Given the description of an element on the screen output the (x, y) to click on. 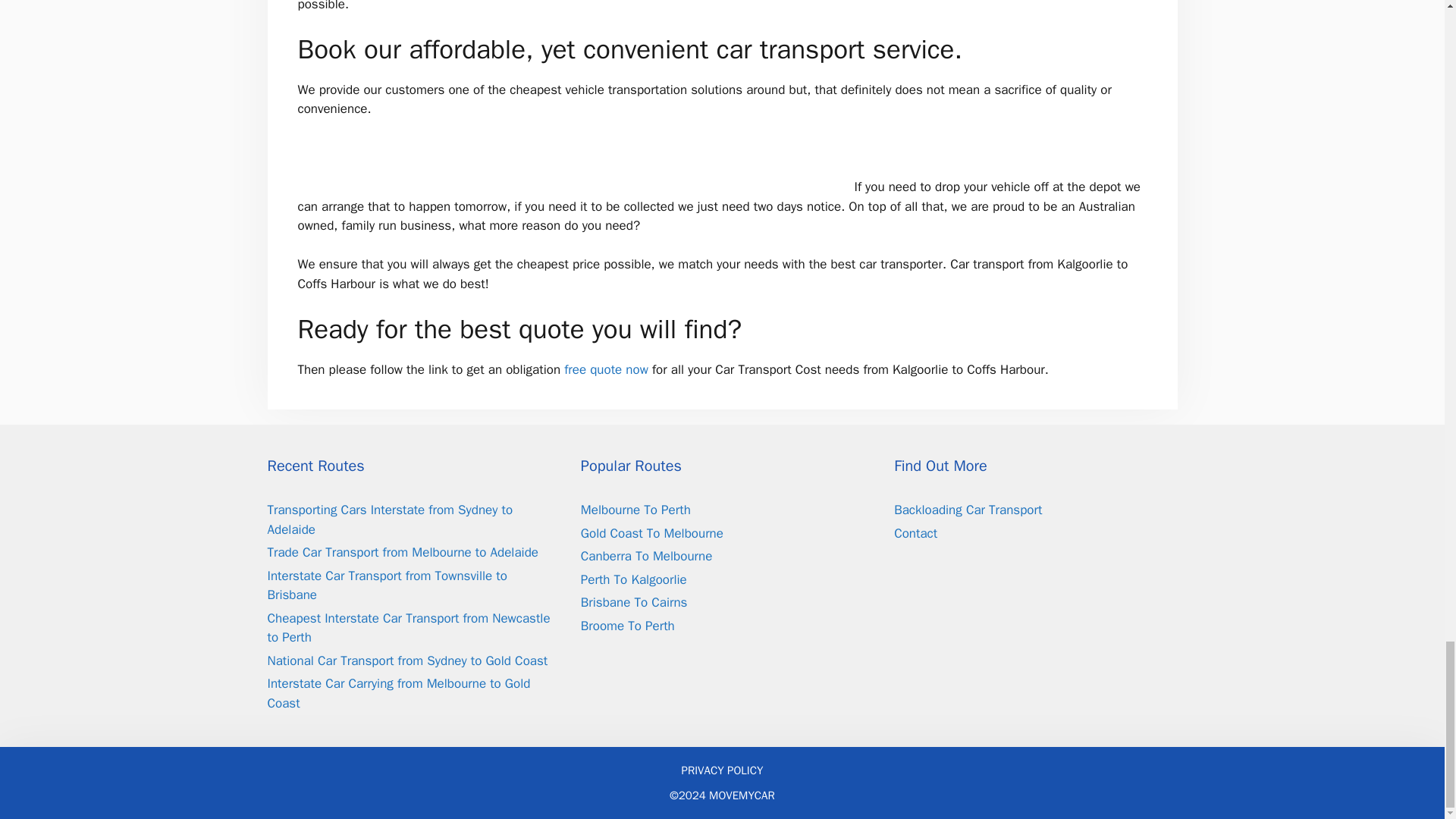
Canberra To Melbourne (645, 555)
Gold Coast To Melbourne (651, 533)
Cheapest Interstate Car Transport from Newcastle to Perth (408, 628)
Brisbane To Cairns (633, 602)
Broome To Perth (627, 625)
Interstate Car Transport from Townsville to Brisbane (386, 585)
Trade Car Transport from Melbourne to Adelaide (401, 552)
PRIVACY POLICY (721, 770)
Interstate Car Carrying from Melbourne to Gold Coast (397, 693)
free quote now (605, 369)
